Given the description of an element on the screen output the (x, y) to click on. 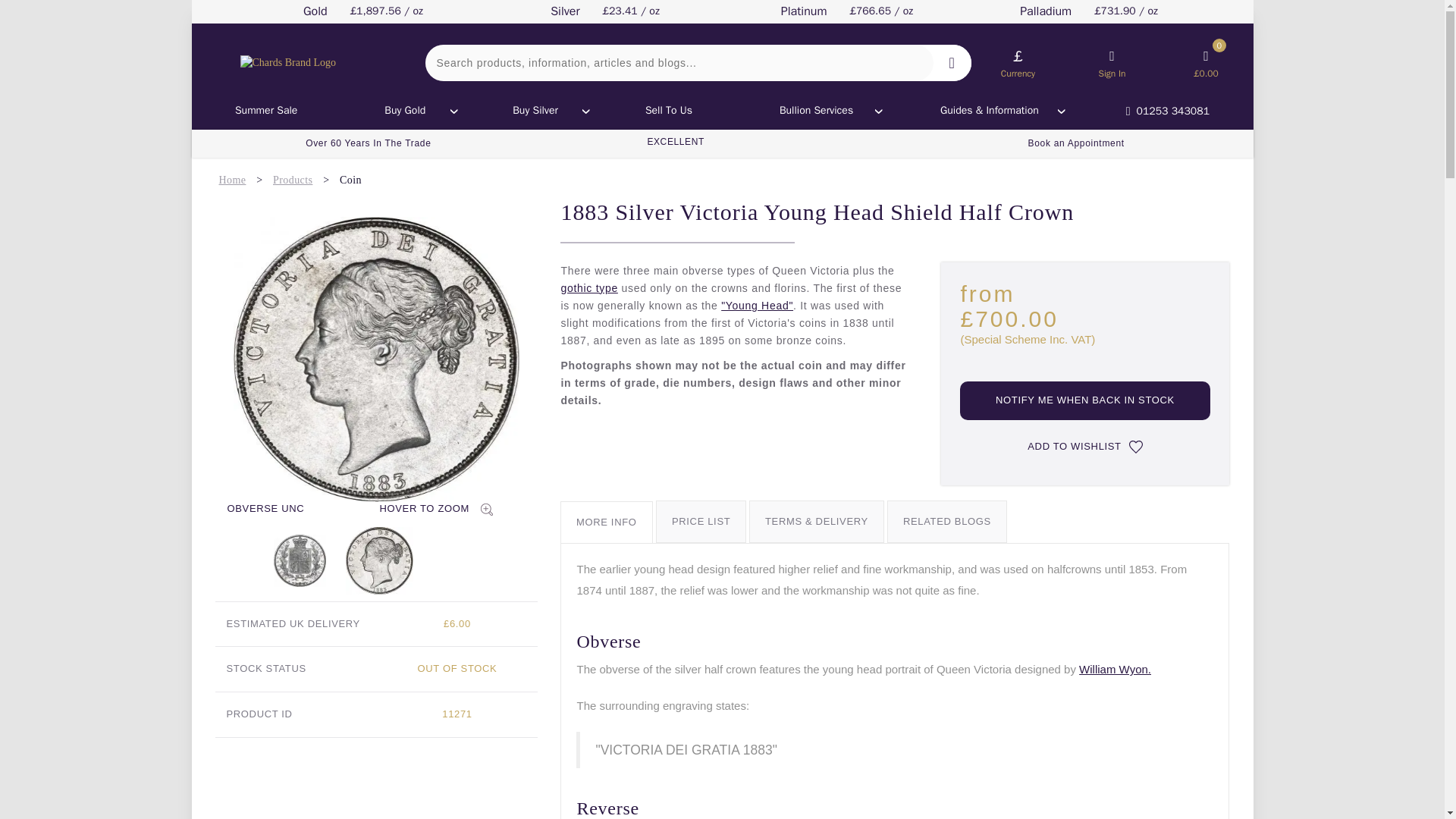
Sign In (1111, 62)
Summer Sale (265, 110)
